Given the description of an element on the screen output the (x, y) to click on. 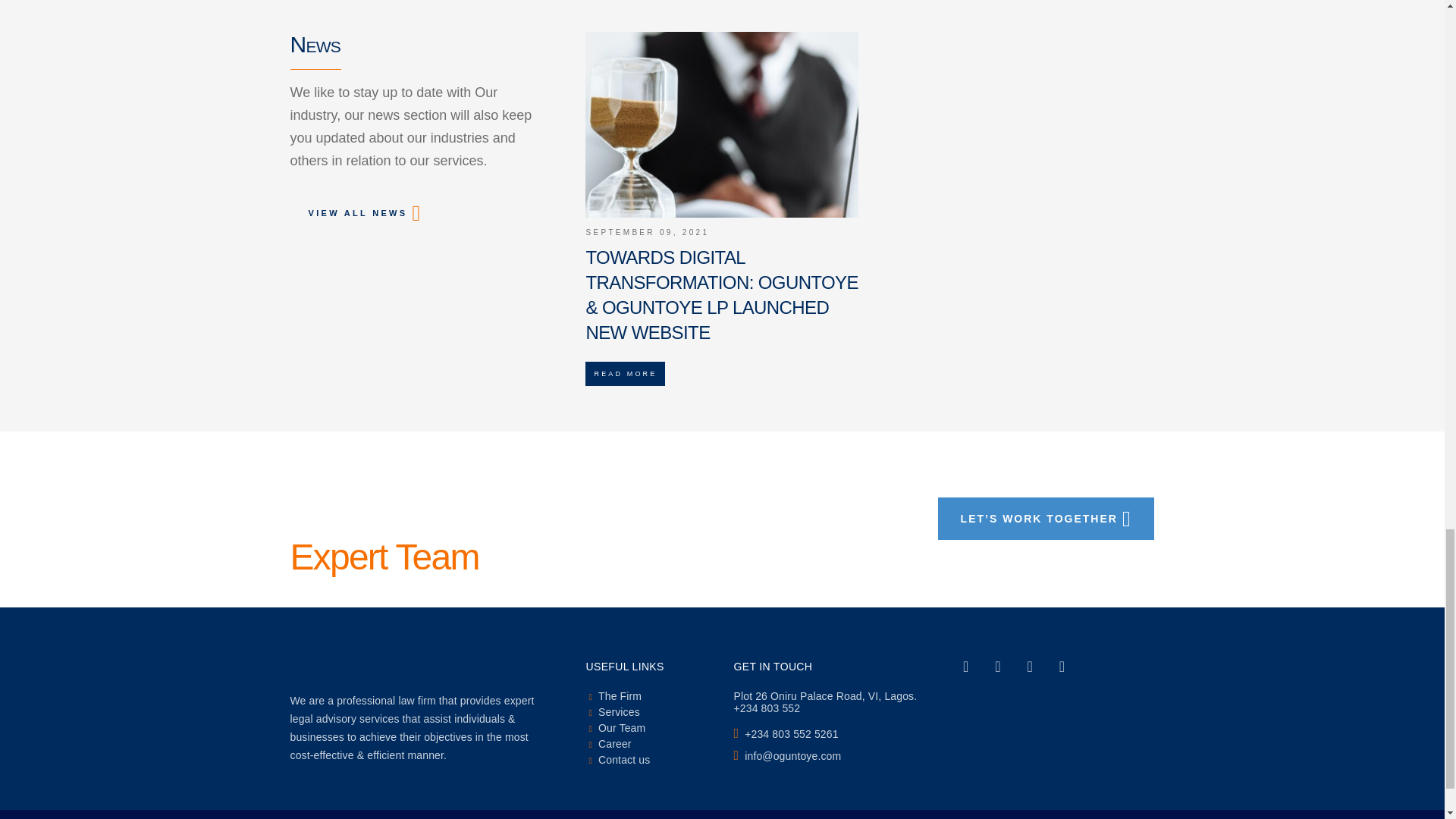
Career (609, 743)
Services (613, 711)
VIEW ALL NEWS (362, 212)
Our Team (616, 727)
READ MORE (625, 373)
The Firm (615, 695)
